Given the description of an element on the screen output the (x, y) to click on. 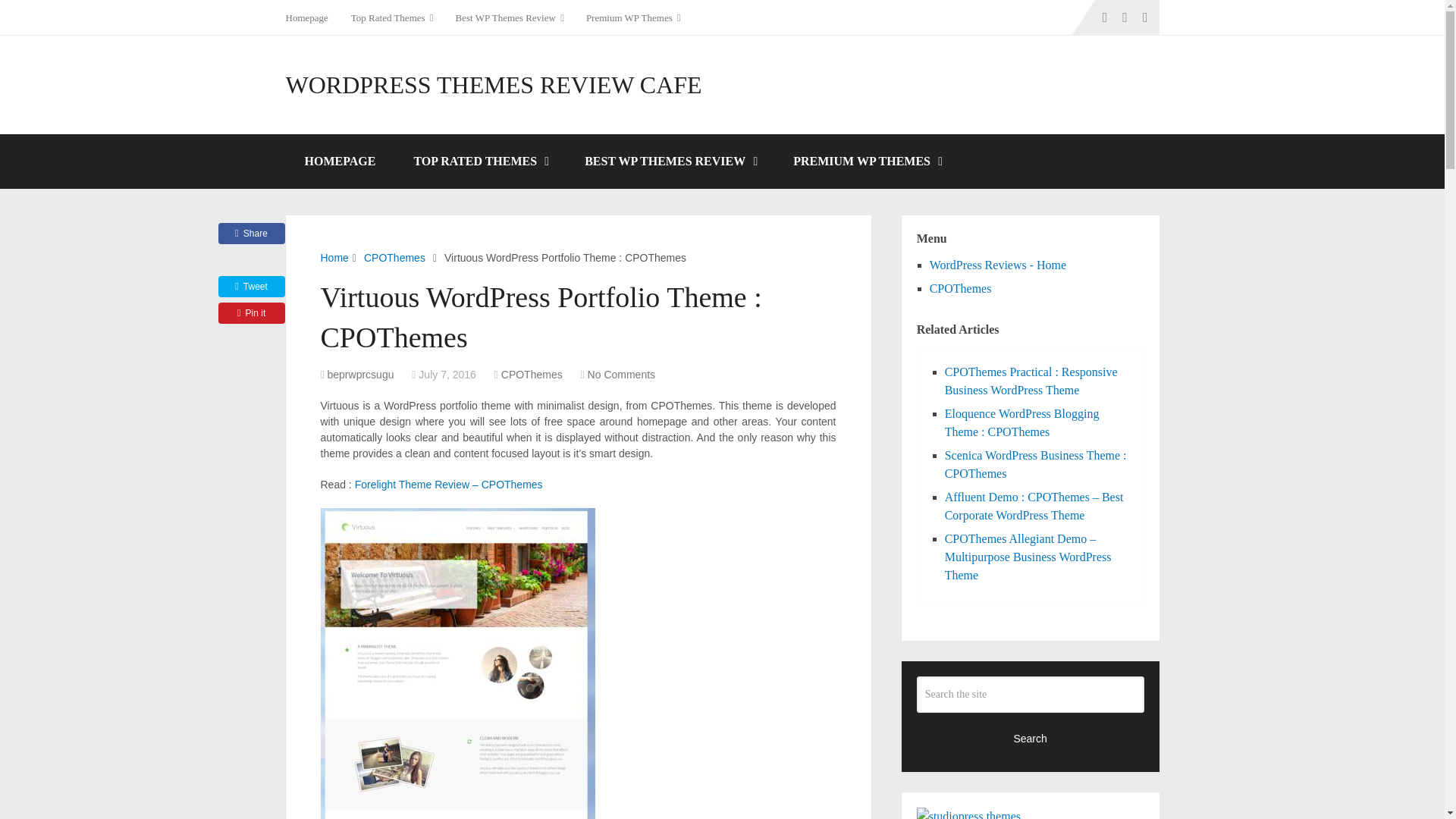
StudioPress Themes (968, 814)
View all posts in CPOThemes (531, 374)
Top Rated Themes (391, 17)
WORDPRESS THEMES REVIEW CAFE (493, 84)
TOP RATED THEMES (480, 161)
Homepage (312, 17)
Best WP Themes Review (509, 17)
Posts by beprwprcsugu (360, 374)
HOMEPAGE (339, 161)
BEST WP THEMES REVIEW (670, 161)
PREMIUM WP THEMES (866, 161)
Premium WP Themes (633, 17)
